Given the description of an element on the screen output the (x, y) to click on. 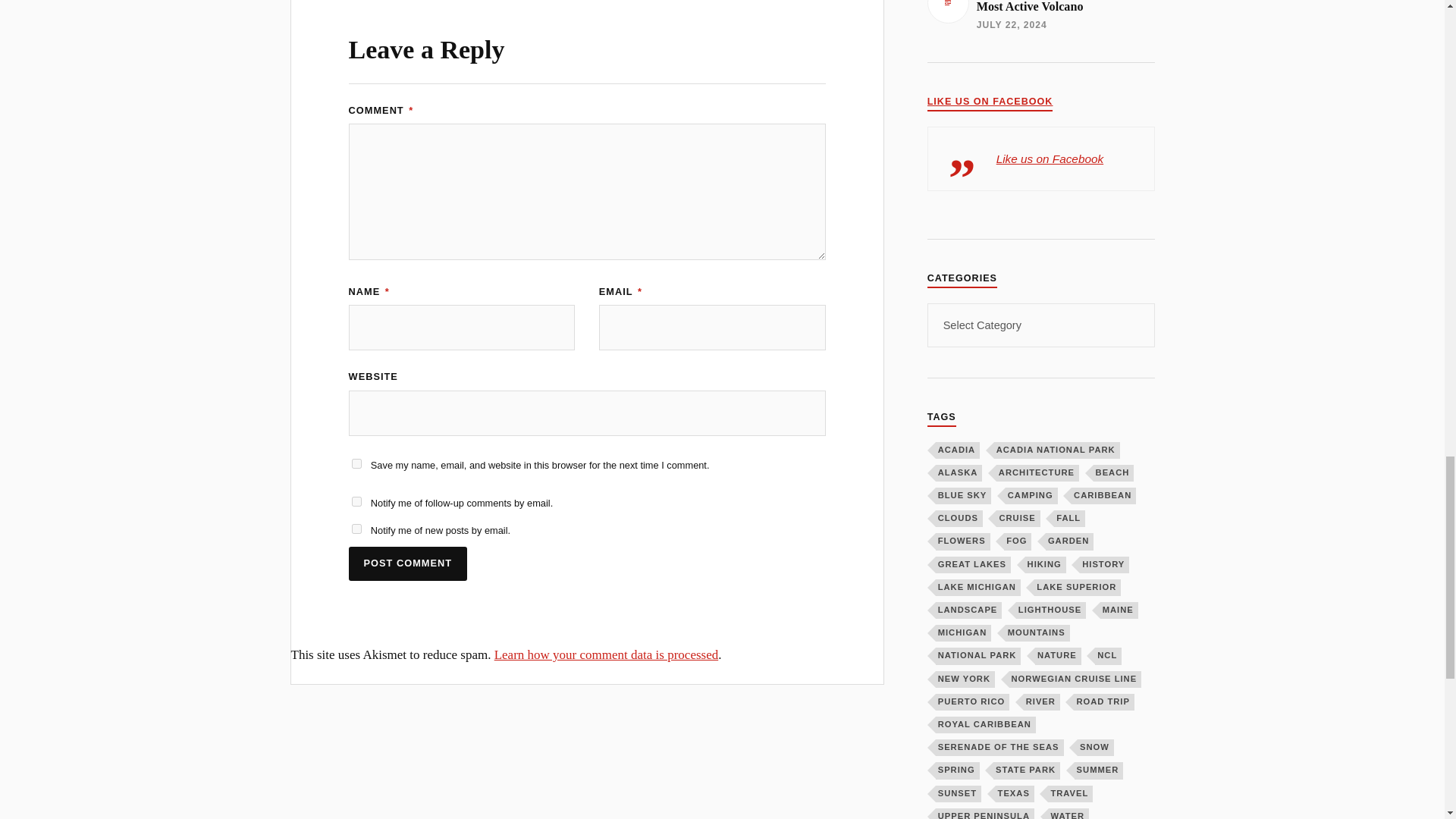
Post Comment (408, 563)
Learn how your comment data is processed (607, 654)
Post Comment (408, 563)
yes (356, 463)
subscribe (356, 501)
subscribe (356, 528)
